Given the description of an element on the screen output the (x, y) to click on. 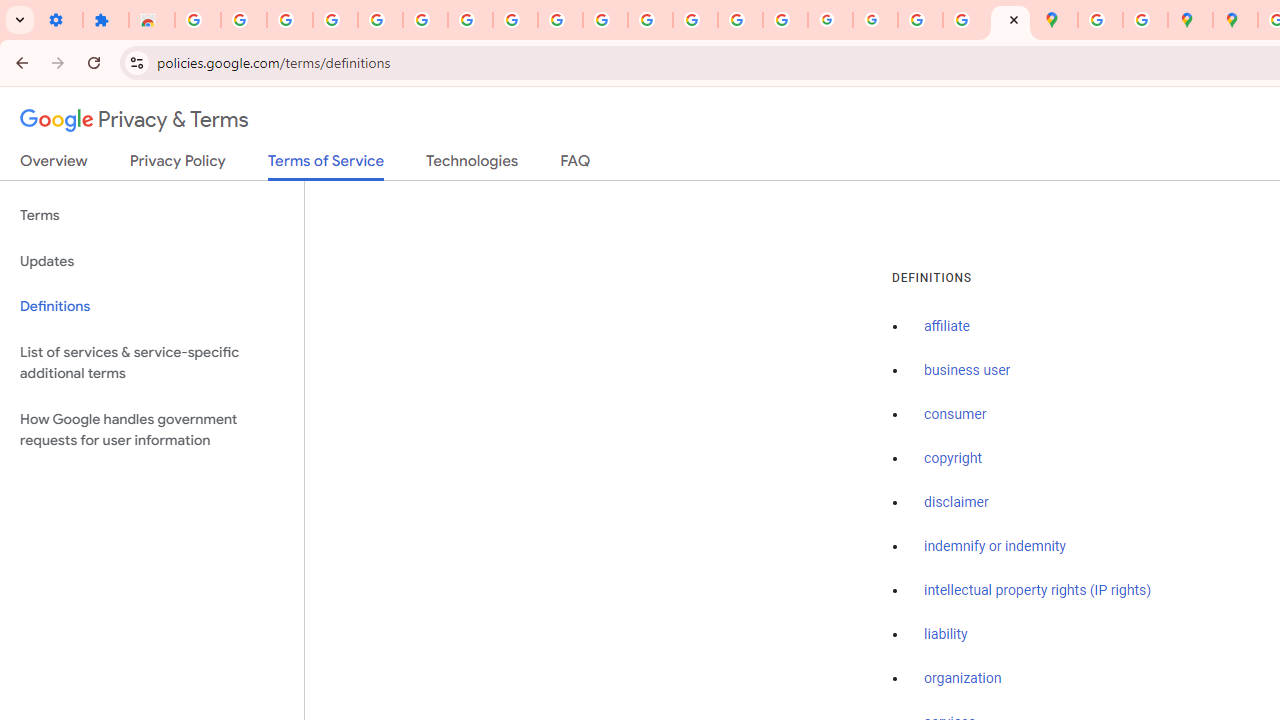
https://scholar.google.com/ (650, 20)
liability (945, 634)
consumer (955, 415)
Settings - On startup (60, 20)
How Google handles government requests for user information (152, 429)
Sign in - Google Accounts (425, 20)
organization (963, 679)
List of services & service-specific additional terms (152, 362)
